Given the description of an element on the screen output the (x, y) to click on. 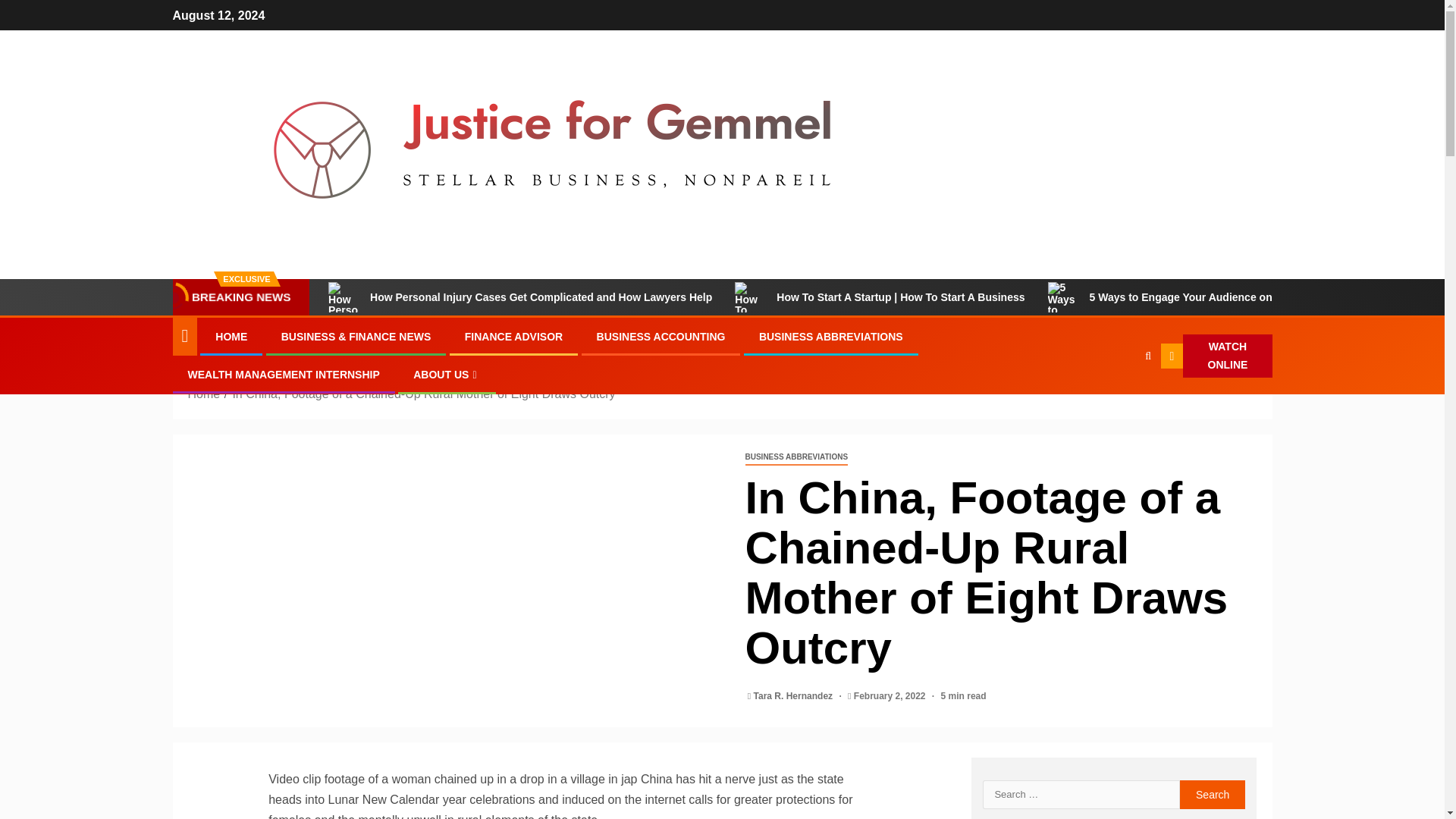
BUSINESS ACCOUNTING (660, 336)
Search (1212, 794)
WATCH ONLINE (1216, 356)
FINANCE ADVISOR (513, 336)
BUSINESS ABBREVIATIONS (830, 336)
Search (1212, 794)
Search (1117, 402)
5 Ways to Engage Your Audience on Instagram (1187, 296)
WEALTH MANAGEMENT INTERNSHIP (283, 374)
Tara R. Hernandez (794, 696)
